Given the description of an element on the screen output the (x, y) to click on. 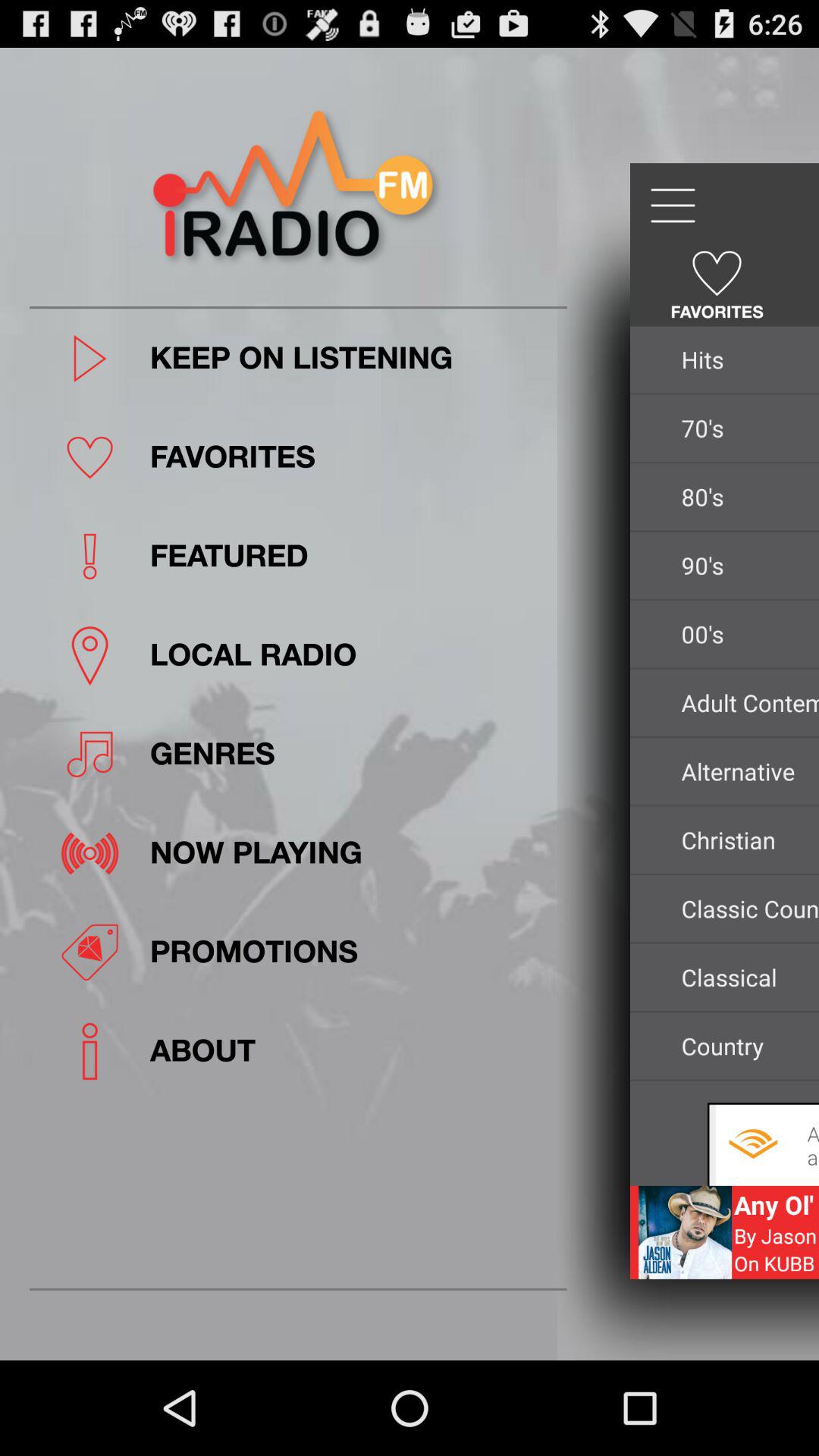
turn off christian (745, 839)
